Given the description of an element on the screen output the (x, y) to click on. 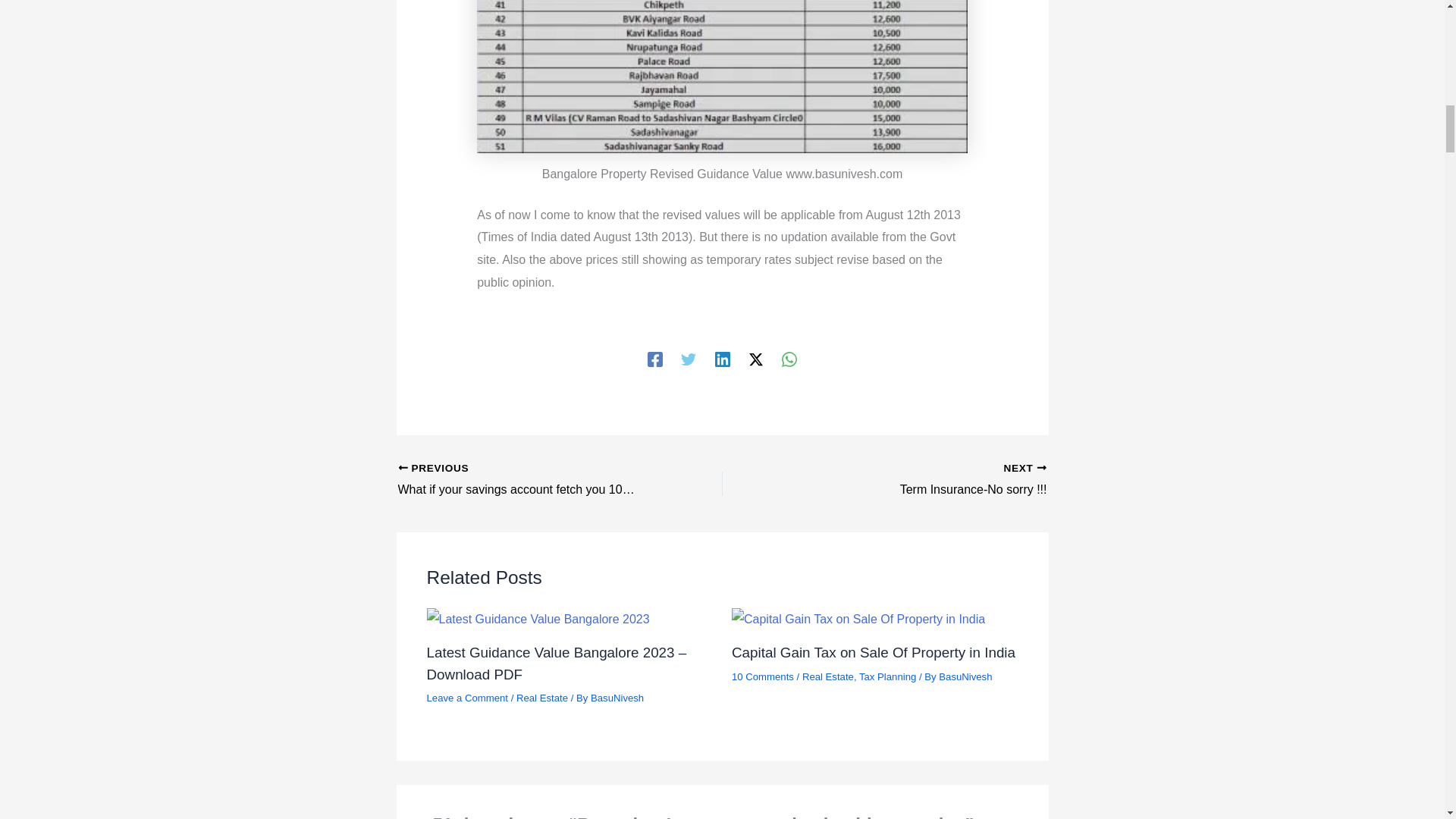
View all posts by BasuNivesh (617, 697)
Term Insurance-No sorry !!! (916, 480)
View all posts by BasuNivesh (965, 676)
